Given the description of an element on the screen output the (x, y) to click on. 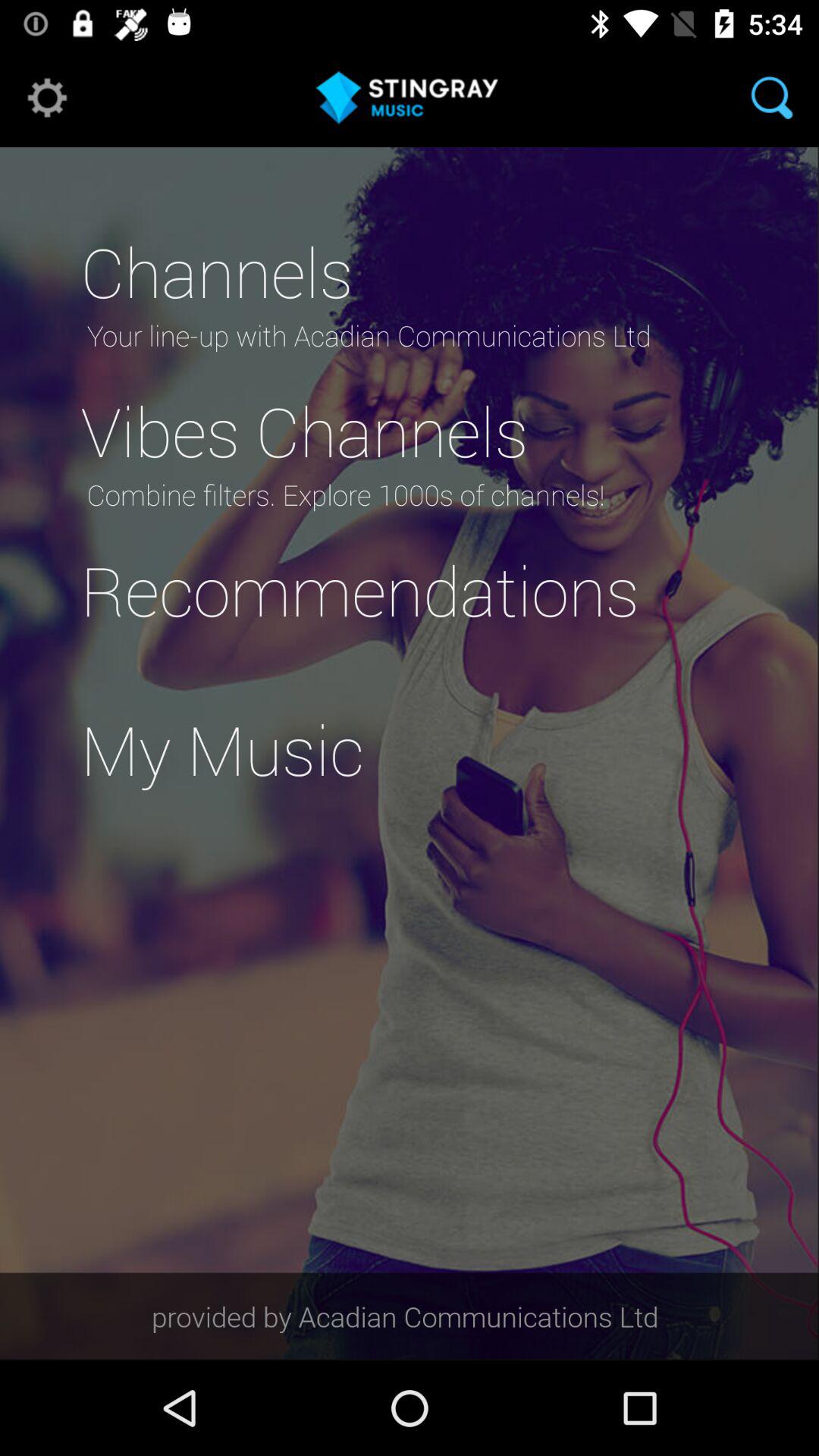
click the item at the top right corner (771, 97)
